Given the description of an element on the screen output the (x, y) to click on. 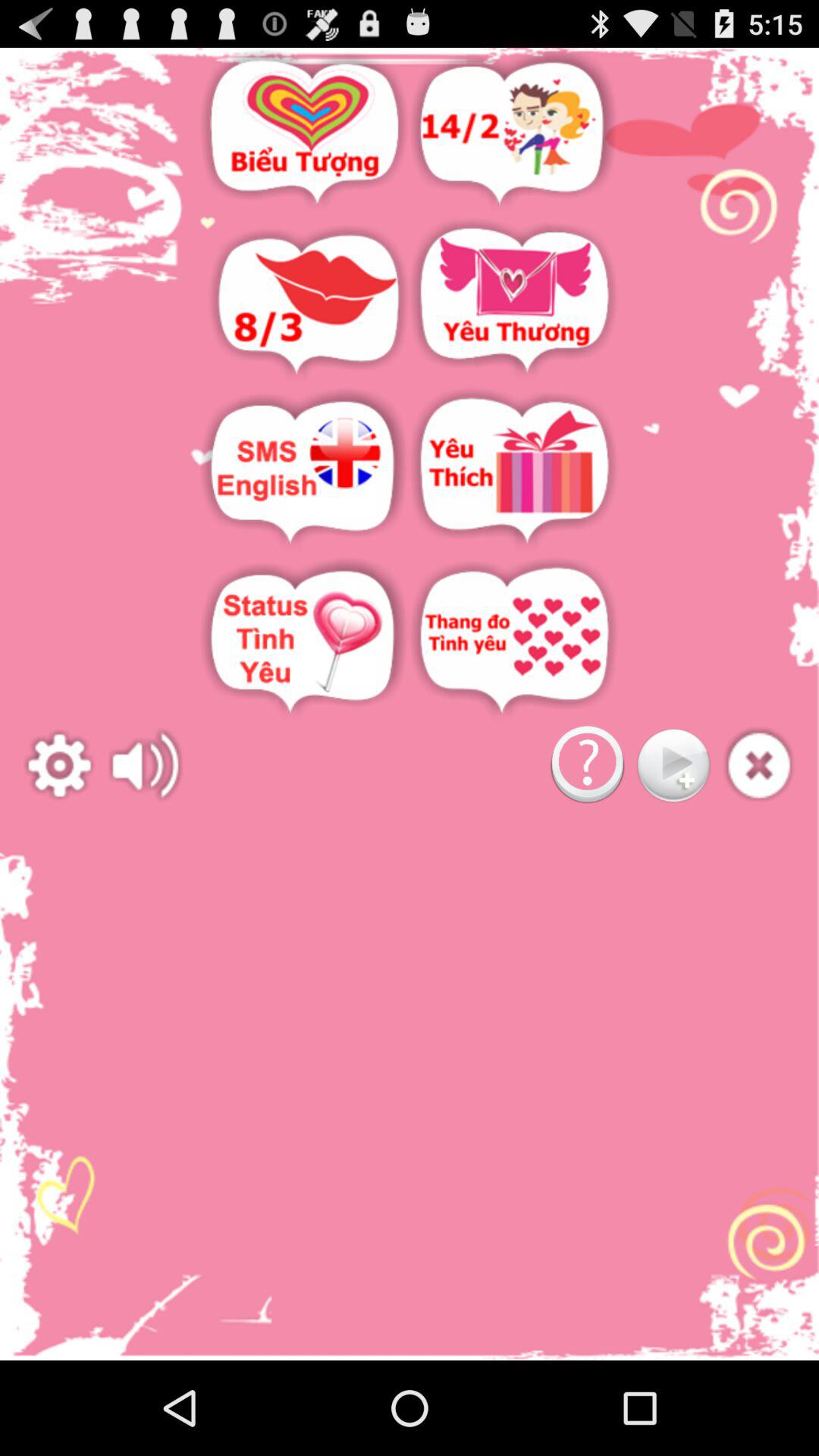
access sent and received mail list (513, 301)
